Given the description of an element on the screen output the (x, y) to click on. 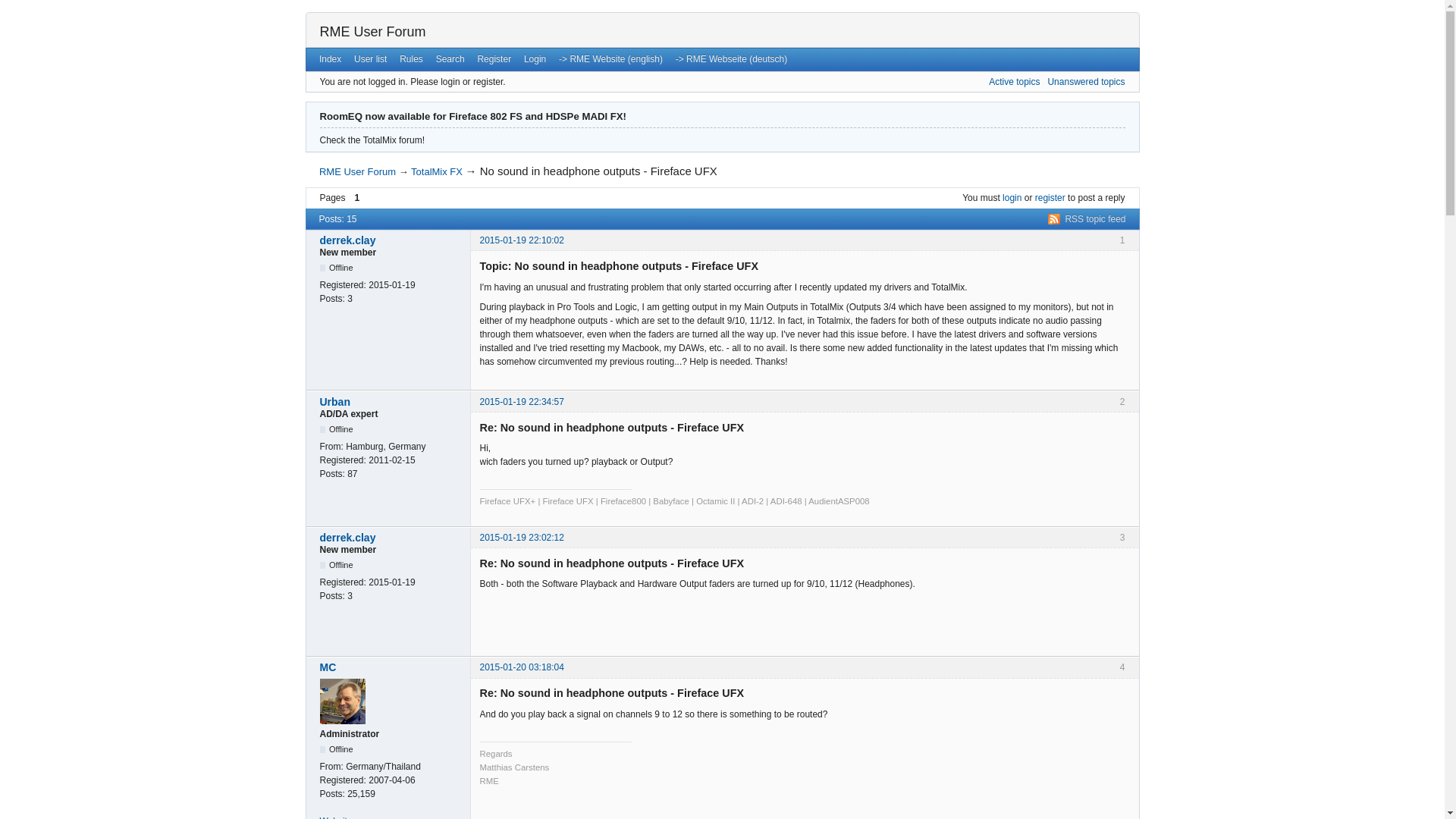
Go to derrek.clay's profile (390, 240)
Find topics which contain recent posts. (1013, 81)
Go to MC's profile (390, 667)
2015-01-20 03:18:04 (521, 666)
Unanswered topics (1085, 81)
Permanent link to this post (521, 666)
User list (370, 58)
Login (535, 58)
MC (390, 667)
Rules (411, 58)
TotalMix FX (436, 171)
Permanent link to this post (521, 240)
RME User Forum (373, 31)
2015-01-19 23:02:12 (521, 537)
Permanent link to this post (521, 400)
